Given the description of an element on the screen output the (x, y) to click on. 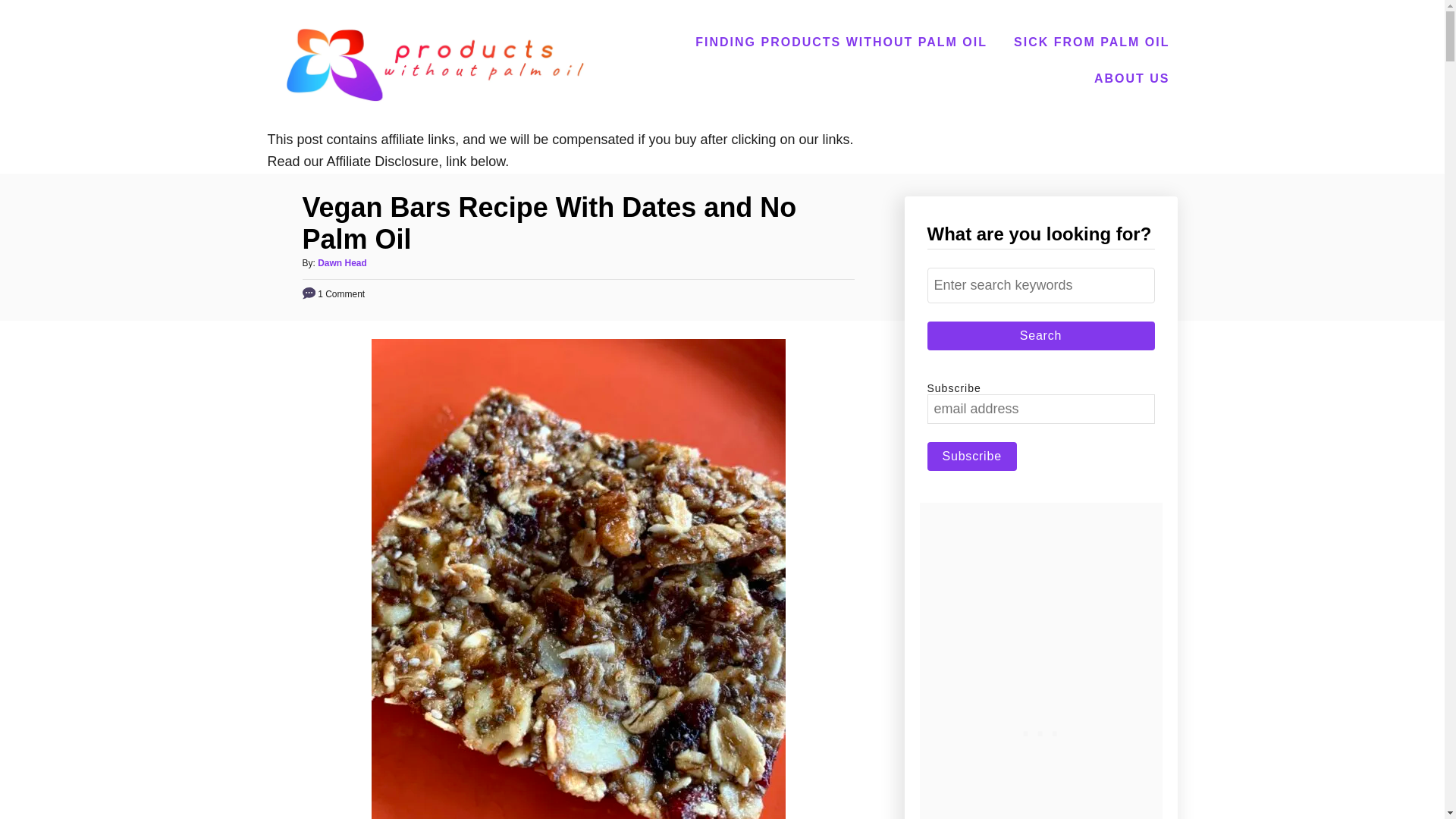
Search (1040, 335)
Products Without Palm Oil (433, 64)
Search (1040, 335)
SICK FROM PALM OIL (1091, 41)
Search for: (1040, 284)
Dawn Head (341, 262)
FINDING PRODUCTS WITHOUT PALM OIL (840, 41)
ABOUT US (1131, 78)
Subscribe (971, 456)
